Given the description of an element on the screen output the (x, y) to click on. 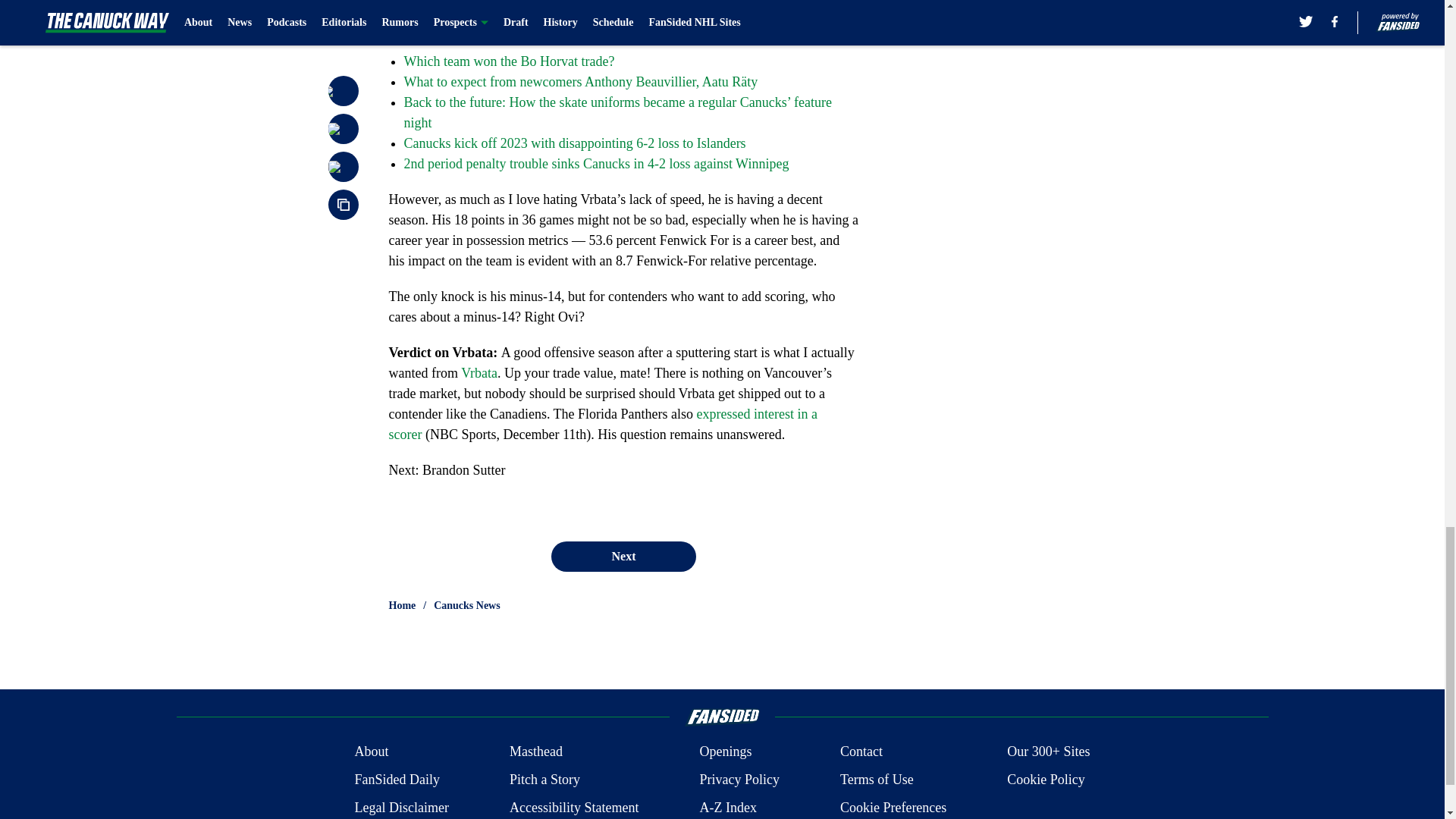
About (370, 752)
Which team won the Bo Horvat trade? (508, 60)
Canucks News (466, 604)
Home (401, 604)
expressed interest in a scorer (602, 424)
Next (622, 556)
Vrbata (479, 372)
